Given the description of an element on the screen output the (x, y) to click on. 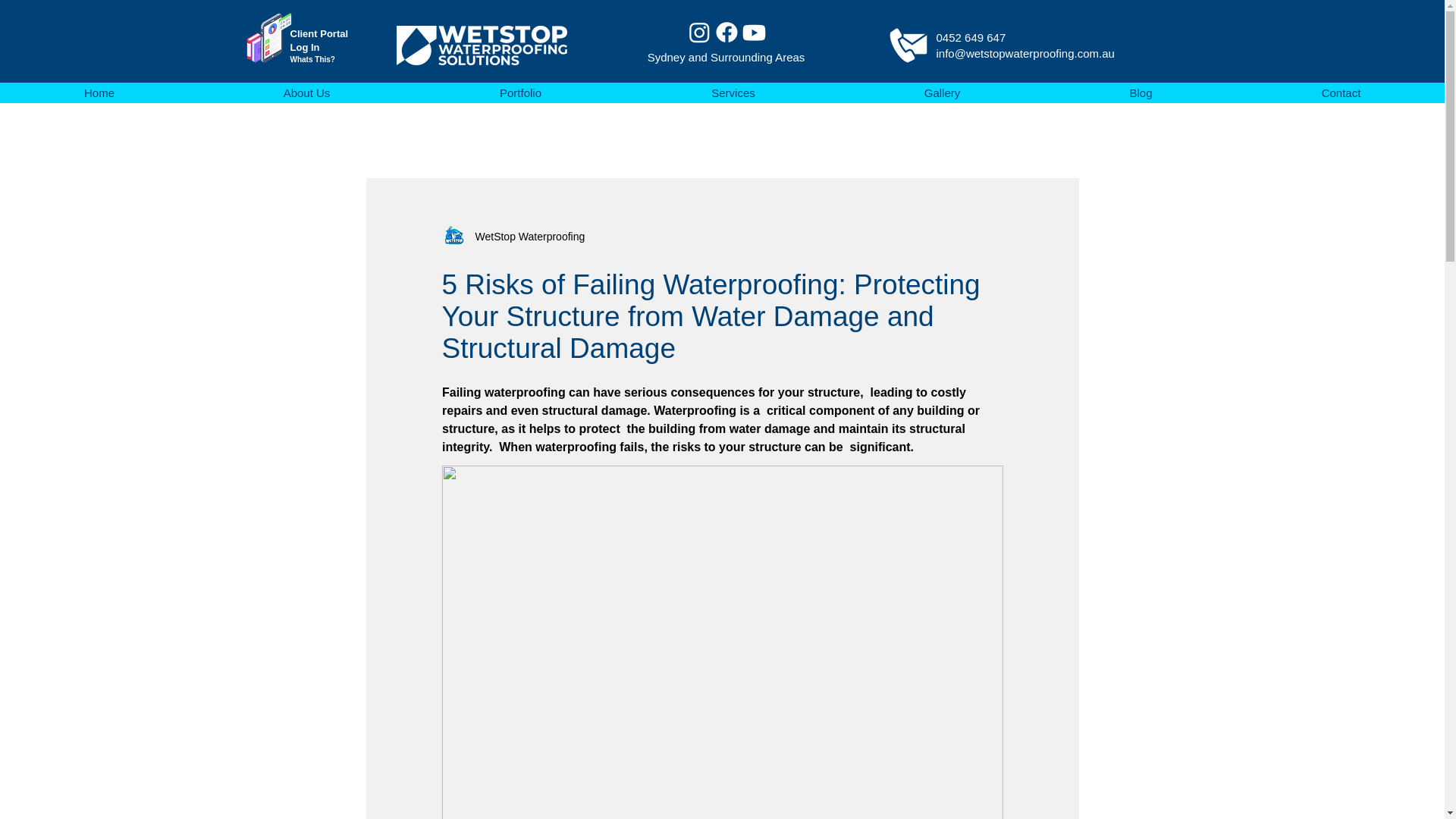
Home (99, 92)
Blog (1139, 92)
Sydney and Surrounding Areas (726, 56)
WetStop Waterproofing (513, 236)
Log In (303, 47)
0452 649 647 (971, 37)
WetStop Waterproofing (525, 236)
About Us (305, 92)
Client Portal (318, 33)
Gallery (941, 92)
